Given the description of an element on the screen output the (x, y) to click on. 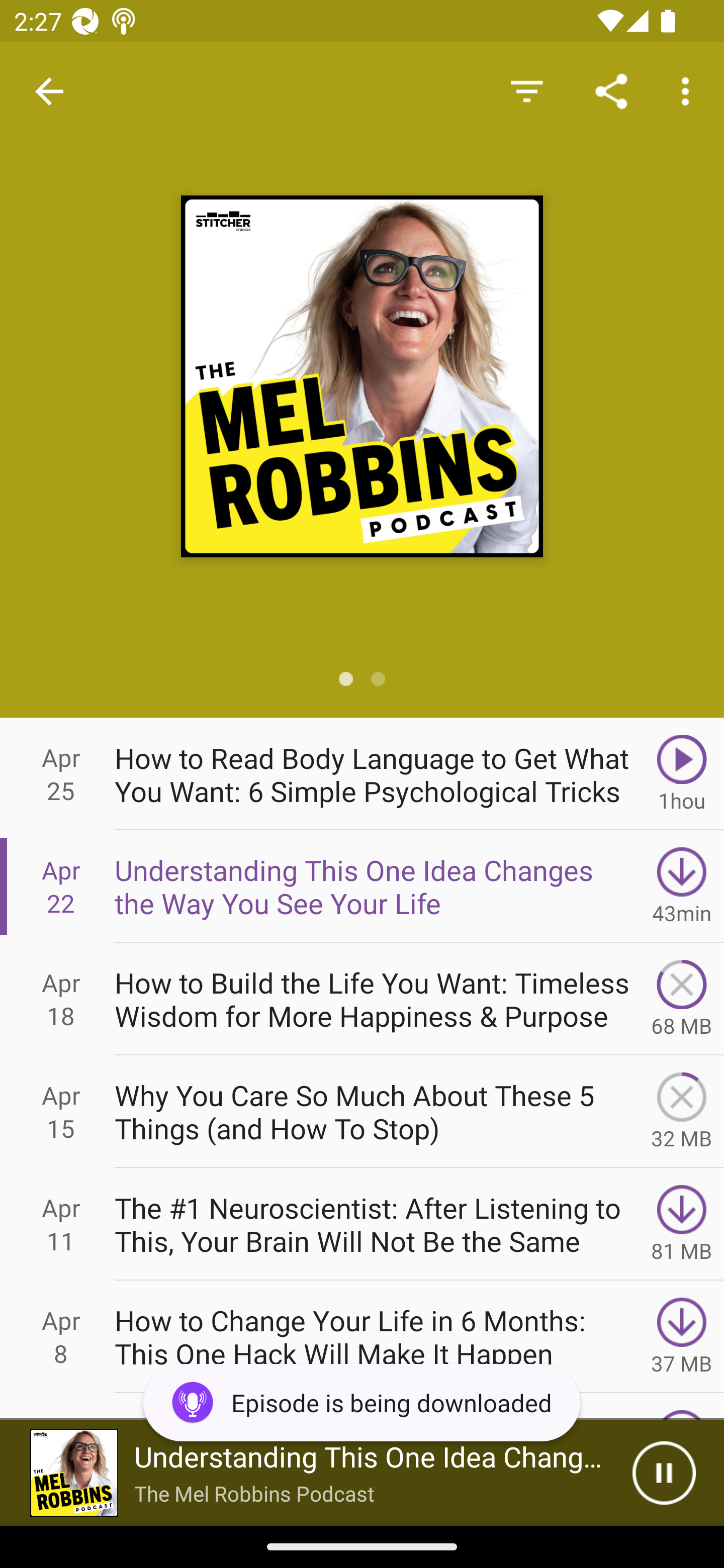
Navigate up (49, 91)
Hide Episodes (526, 90)
Share Link (611, 90)
More options (688, 90)
Play 1hou (681, 773)
Download 43min (681, 885)
Cancel
Download 68 MB (681, 998)
Cancel
Download 32 MB (681, 1111)
Download 81 MB (681, 1224)
Download 37 MB (681, 1336)
Pause (663, 1472)
